Given the description of an element on the screen output the (x, y) to click on. 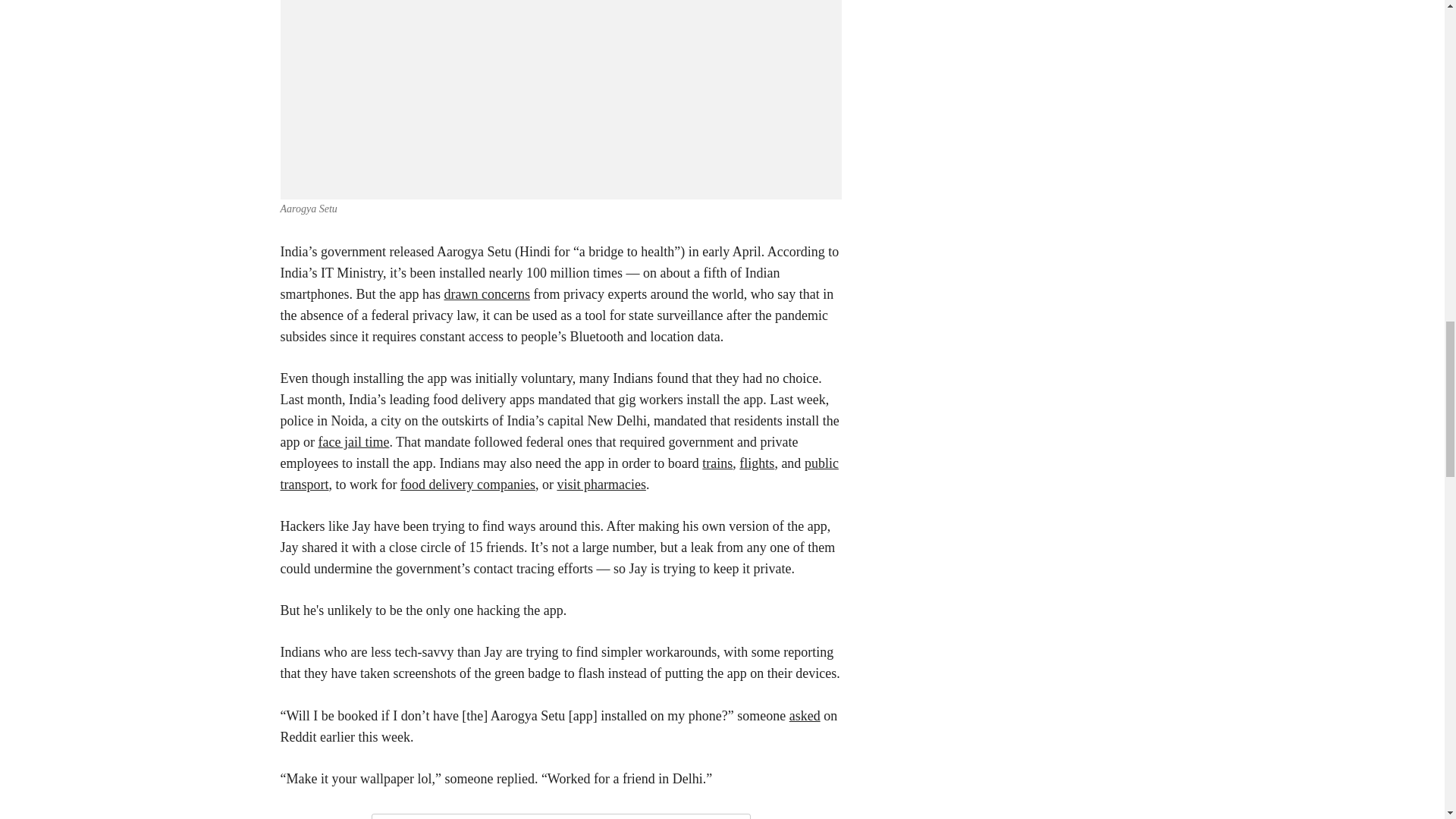
face jail time (352, 441)
drawn concerns (486, 294)
food delivery companies (467, 484)
visit pharmacies (600, 484)
public transport (559, 473)
trains (716, 462)
flights (756, 462)
asked (805, 715)
